Given the description of an element on the screen output the (x, y) to click on. 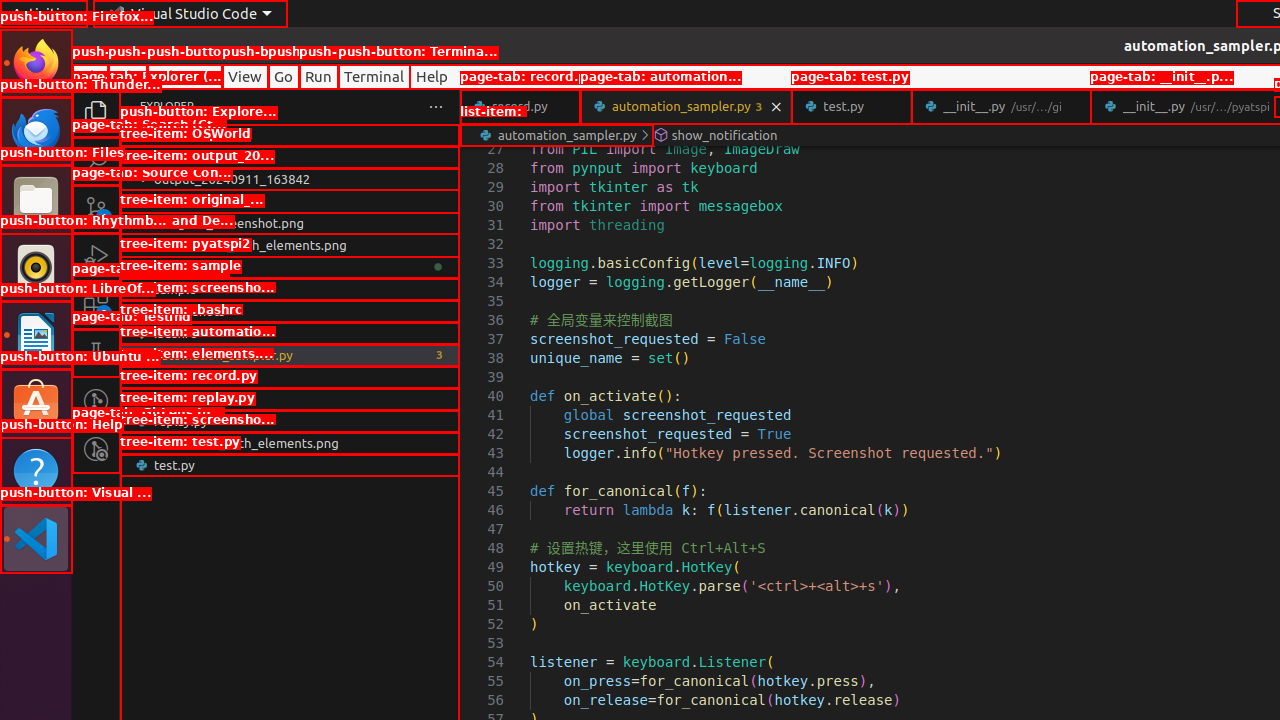
Firefox Web Browser Element type: push-button (36, 63)
output_20240911_163842 Element type: tree-item (289, 179)
Extensions (Ctrl+Shift+X) - 2 require update Element type: page-tab (96, 305)
screenshots Element type: tree-item (289, 311)
Run Element type: push-button (318, 76)
